Given the description of an element on the screen output the (x, y) to click on. 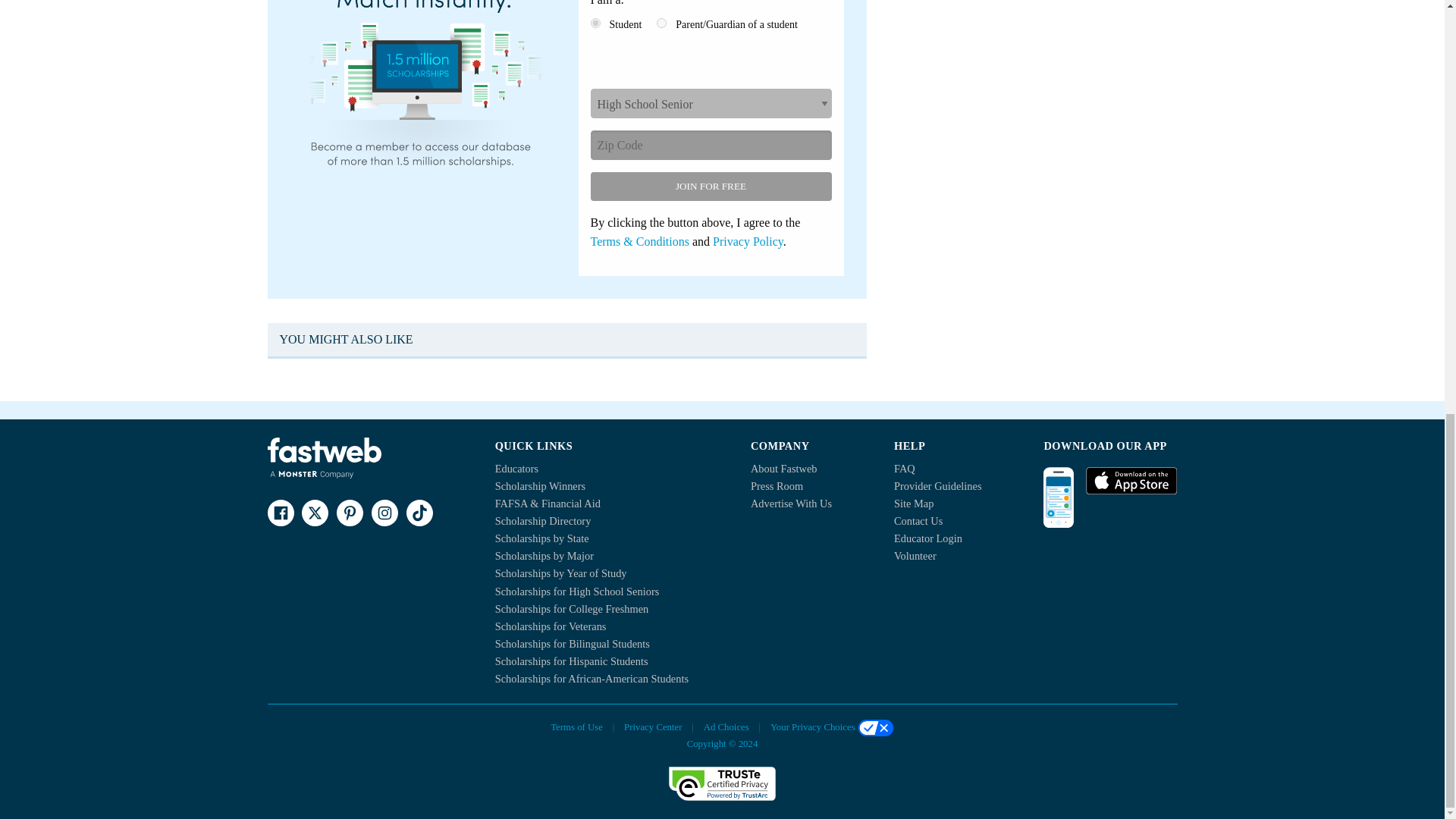
Fastweb on TikTok (419, 512)
Join for free (710, 185)
Fastweb on Instagram (384, 512)
Fastweb on Pinterest (349, 512)
Fastweb on IOS (1131, 480)
1 (594, 22)
Fastweb on Facebook (280, 512)
2 (661, 22)
